Given the description of an element on the screen output the (x, y) to click on. 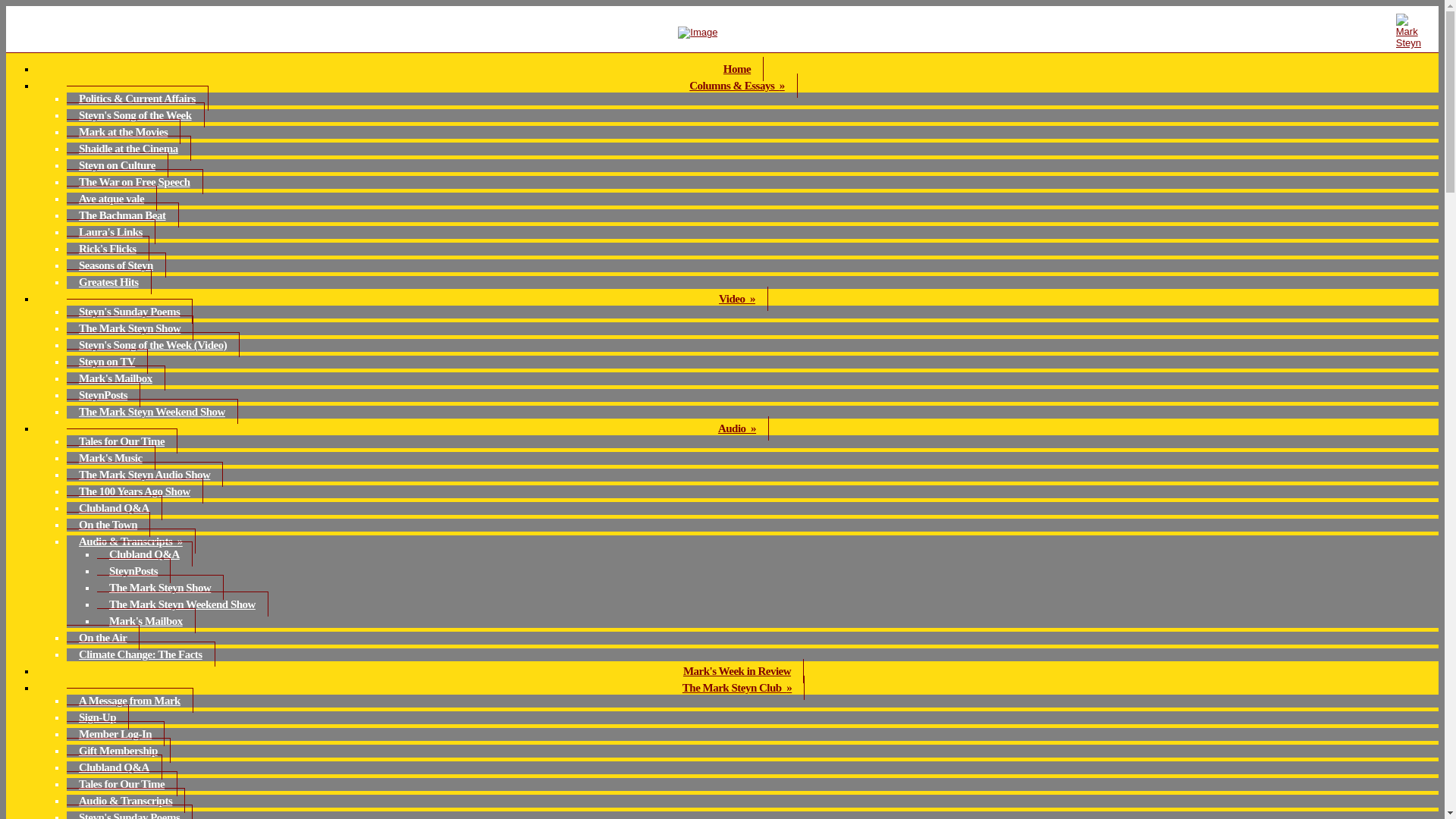
Seasons of Steyn (115, 264)
Mark's Week in Review (737, 671)
Mark's Music (110, 457)
Mark at the Movies (123, 131)
On the Air (102, 637)
Home (736, 68)
Ave atque vale (111, 197)
The Mark Steyn Show (160, 586)
Greatest Hits (108, 281)
The Mark Steyn Show (129, 327)
Rick's Flicks (107, 248)
The Mark Steyn Weekend Show (152, 411)
SteynPosts (102, 394)
Climate Change: The Facts (140, 653)
Shaidle at the Cinema (128, 147)
